Given the description of an element on the screen output the (x, y) to click on. 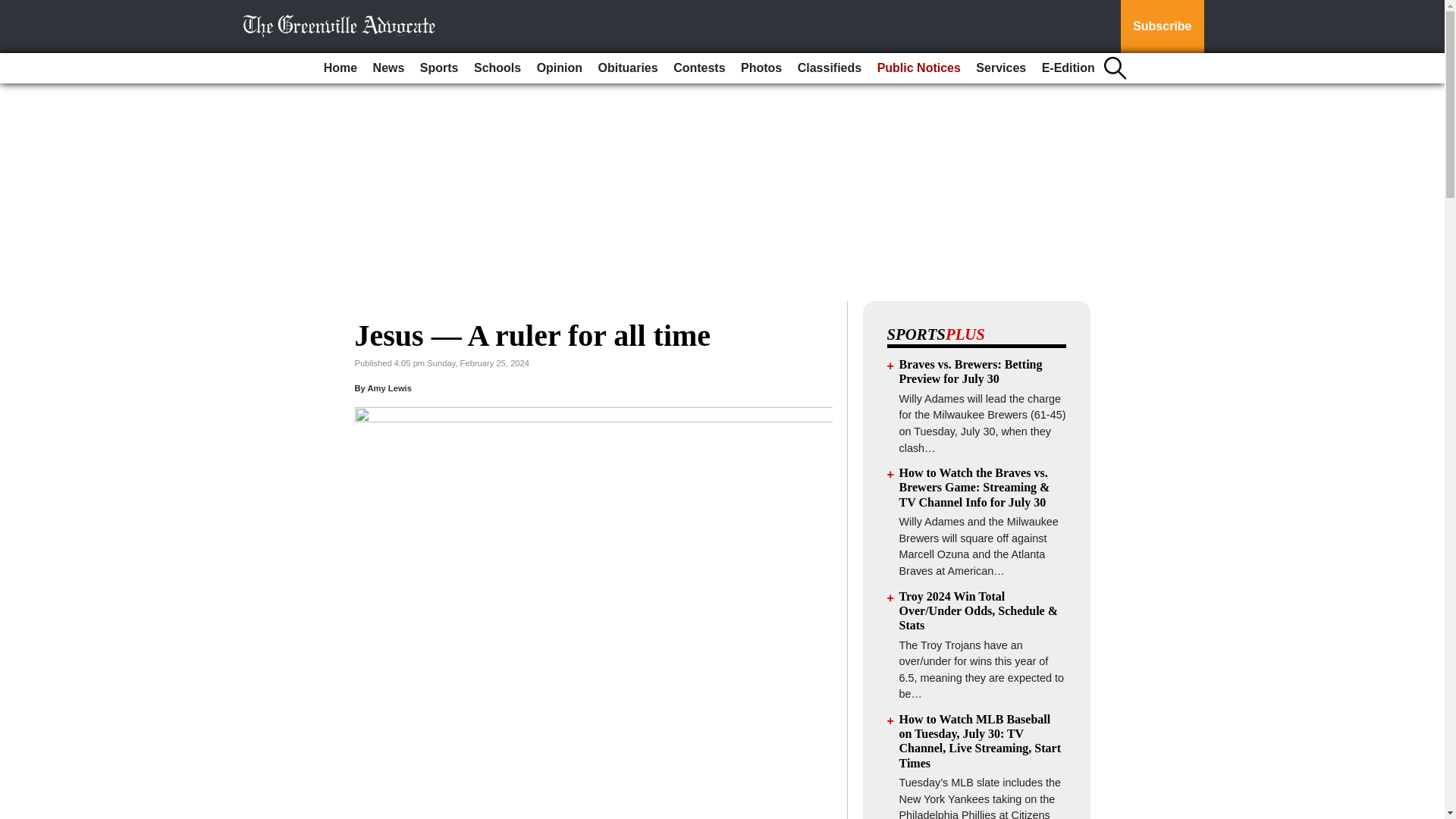
Obituaries (627, 68)
Go (13, 9)
Amy Lewis (388, 388)
Schools (497, 68)
Services (1000, 68)
Photos (761, 68)
Public Notices (918, 68)
Braves vs. Brewers: Betting Preview for July 30 (970, 370)
E-Edition (1067, 68)
Opinion (559, 68)
Sports (438, 68)
Classifieds (829, 68)
News (388, 68)
Contests (698, 68)
Home (339, 68)
